Given the description of an element on the screen output the (x, y) to click on. 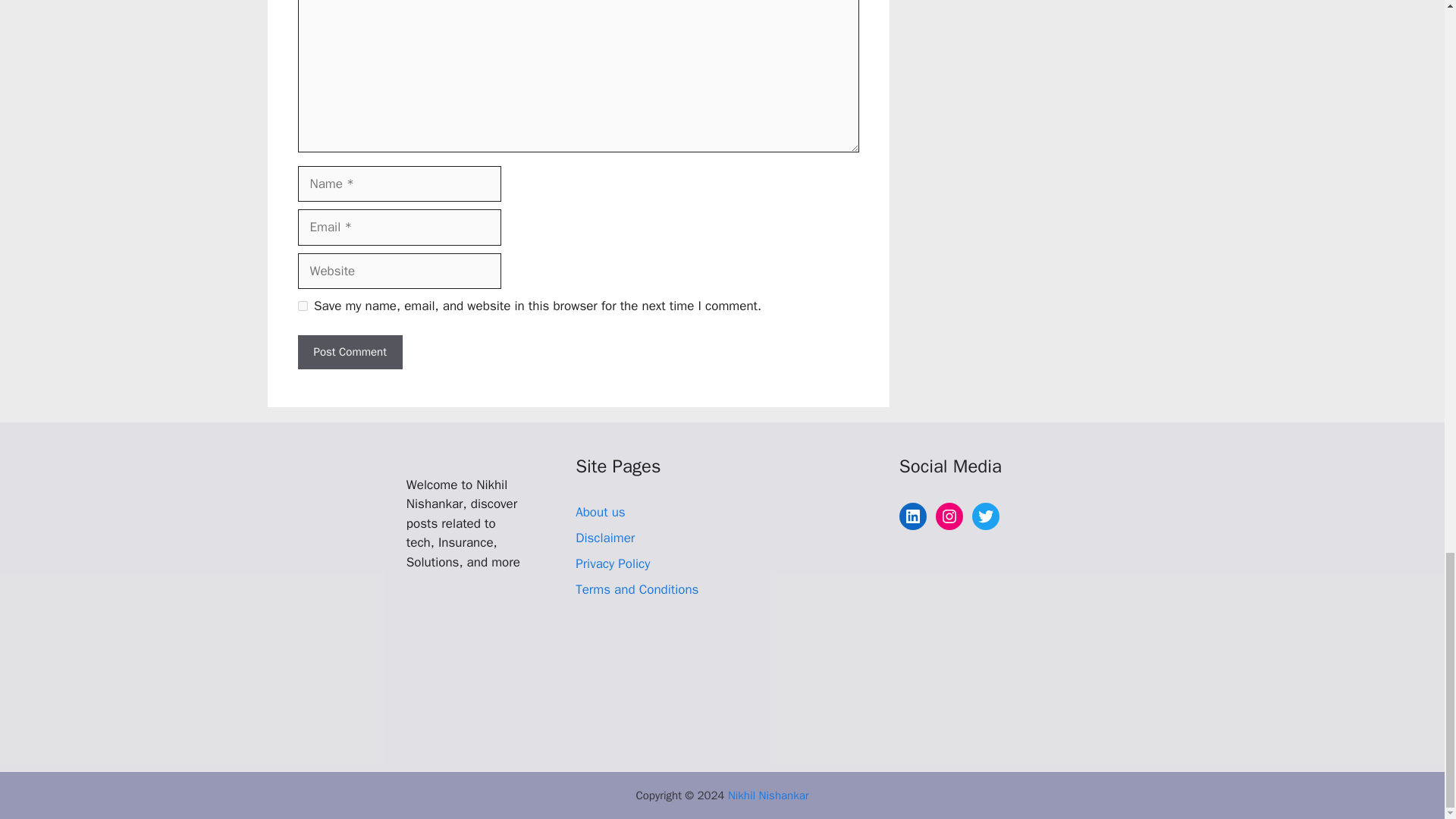
LinkedIn (912, 515)
Terms and Conditions (636, 589)
Post Comment (349, 351)
Nikhil Nishankar (768, 795)
Privacy Policy (612, 563)
Disclaimer (604, 537)
DMCA.com Protection Status (689, 731)
About us (600, 512)
Post Comment (349, 351)
Twitter (985, 515)
Instagram (949, 515)
yes (302, 306)
